Given the description of an element on the screen output the (x, y) to click on. 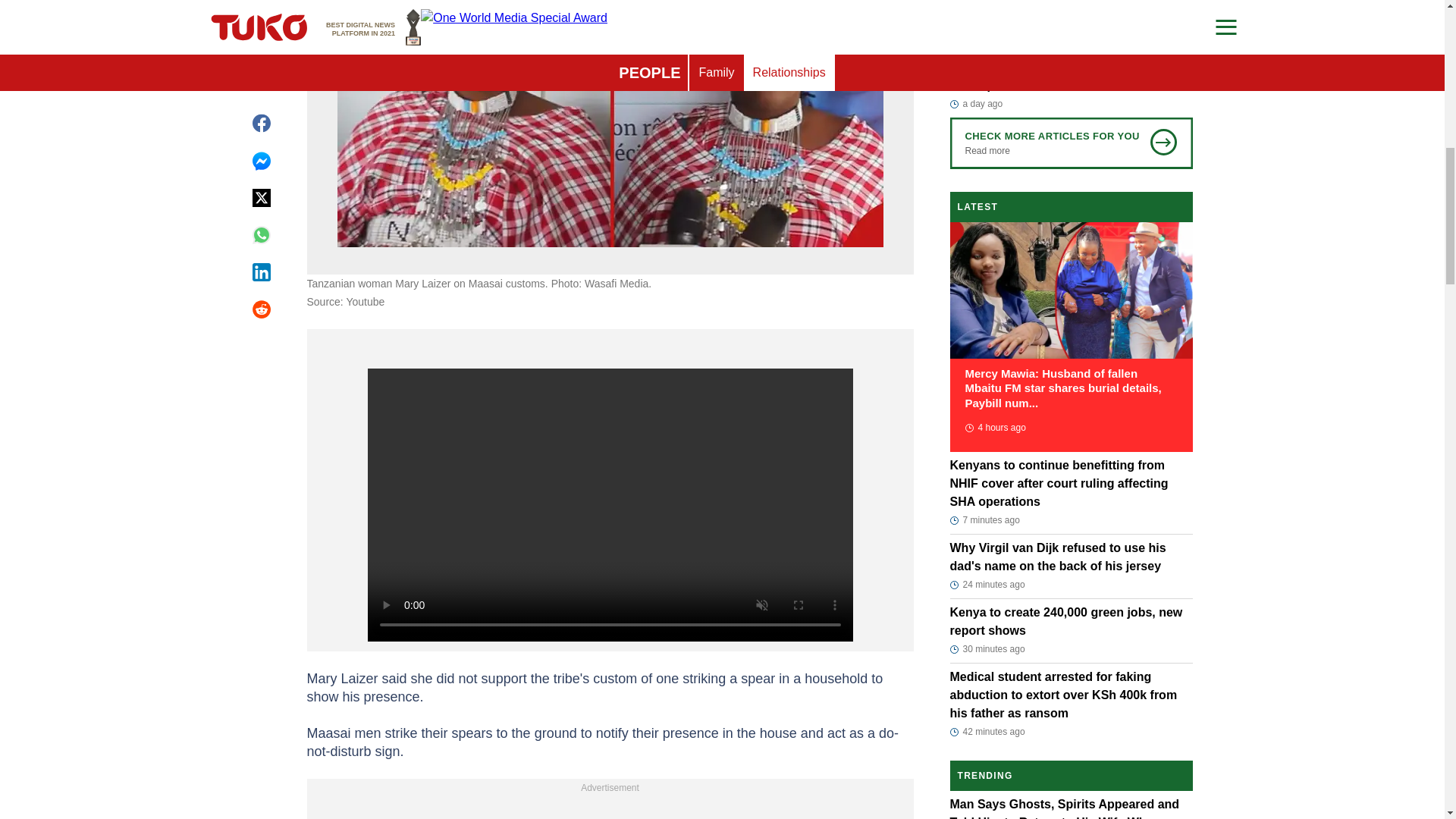
3rd party ad content (609, 807)
